Given the description of an element on the screen output the (x, y) to click on. 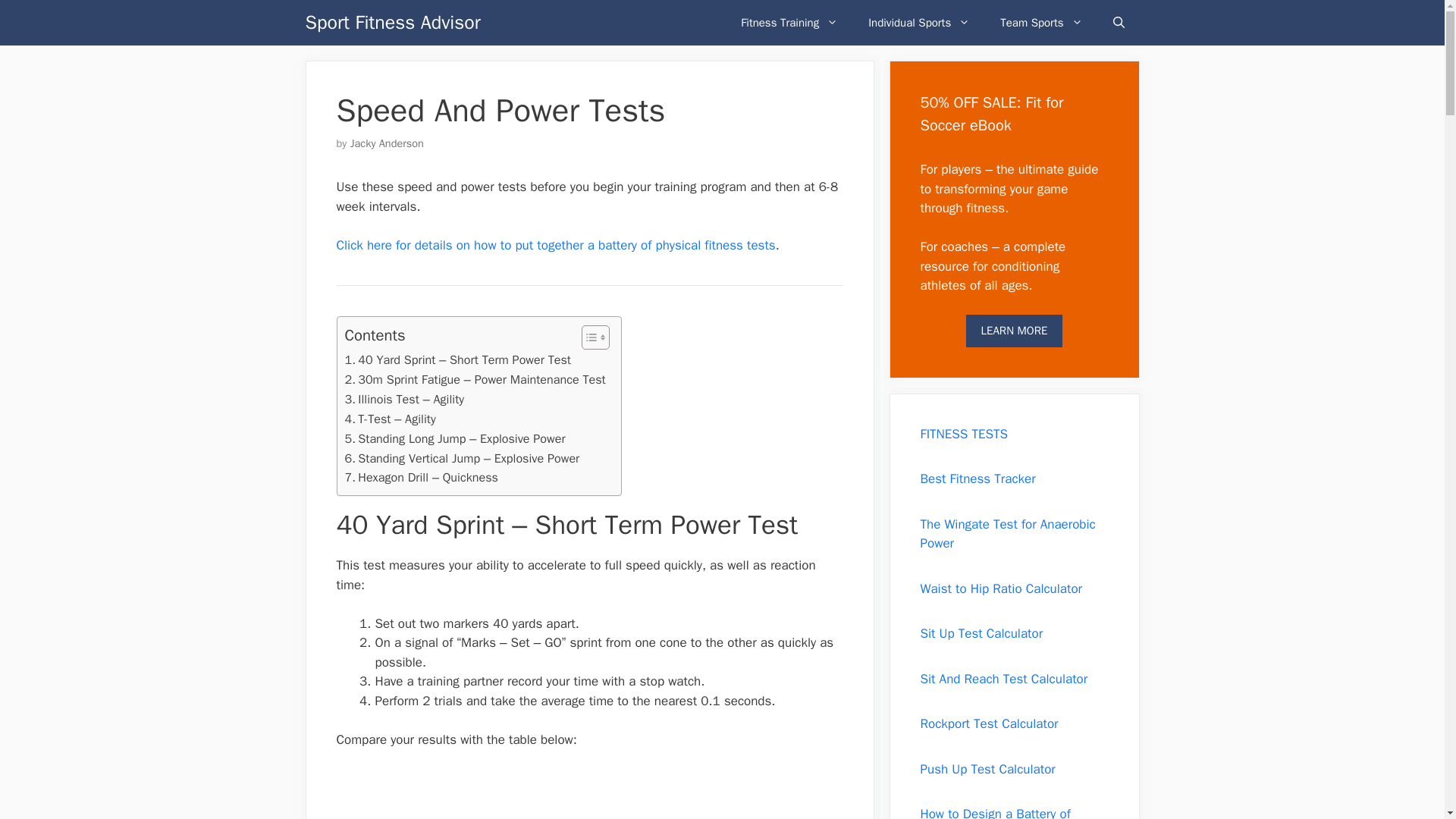
40 yard sprint scores (448, 794)
View all posts by Jacky Anderson (386, 142)
